Given the description of an element on the screen output the (x, y) to click on. 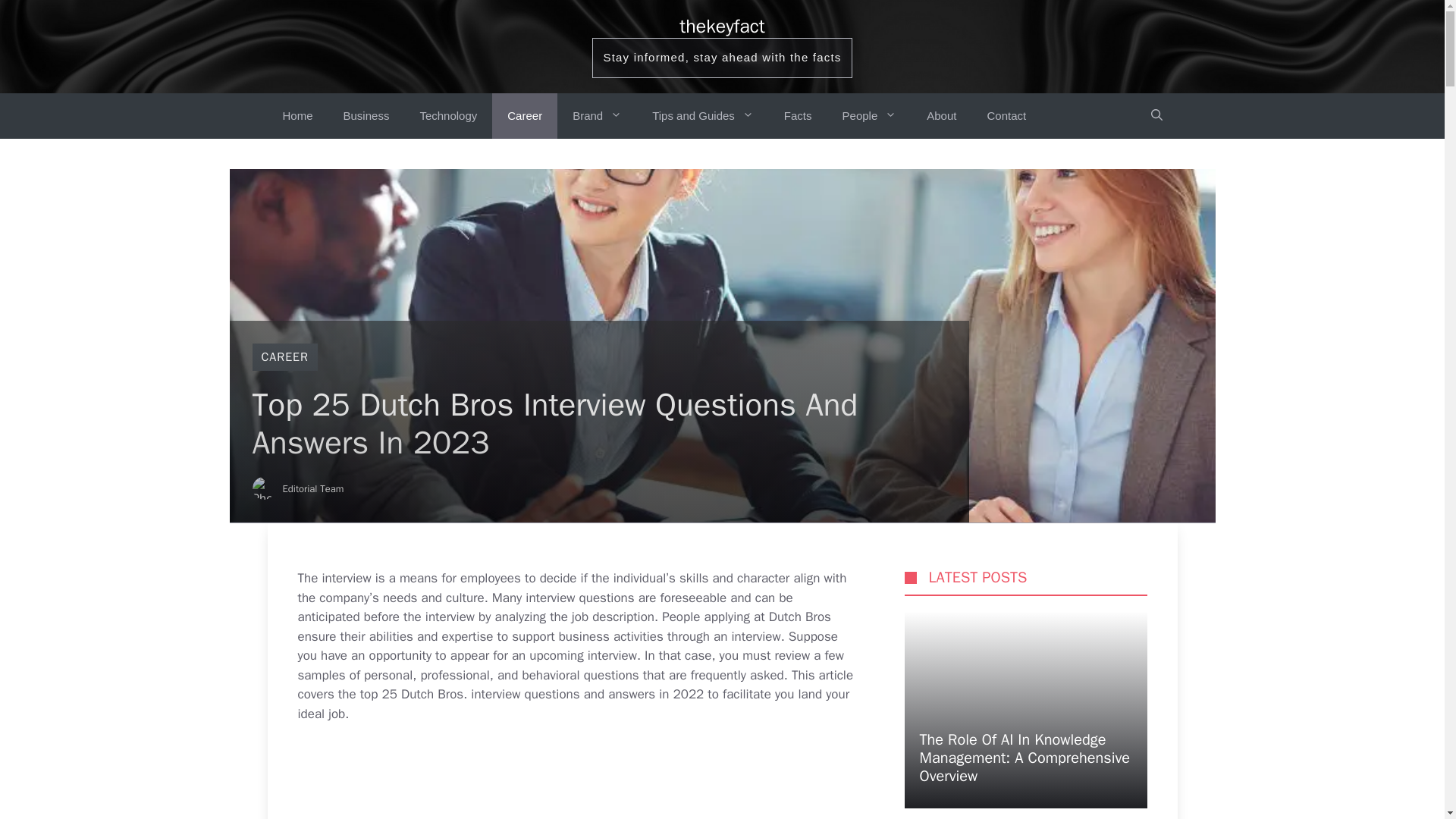
Technology (448, 115)
Facts (797, 115)
Brand (597, 115)
CAREER (283, 355)
Tips and Guides (702, 115)
Career (524, 115)
People (869, 115)
Contact (1006, 115)
About (941, 115)
thekeyfact (721, 25)
